Given the description of an element on the screen output the (x, y) to click on. 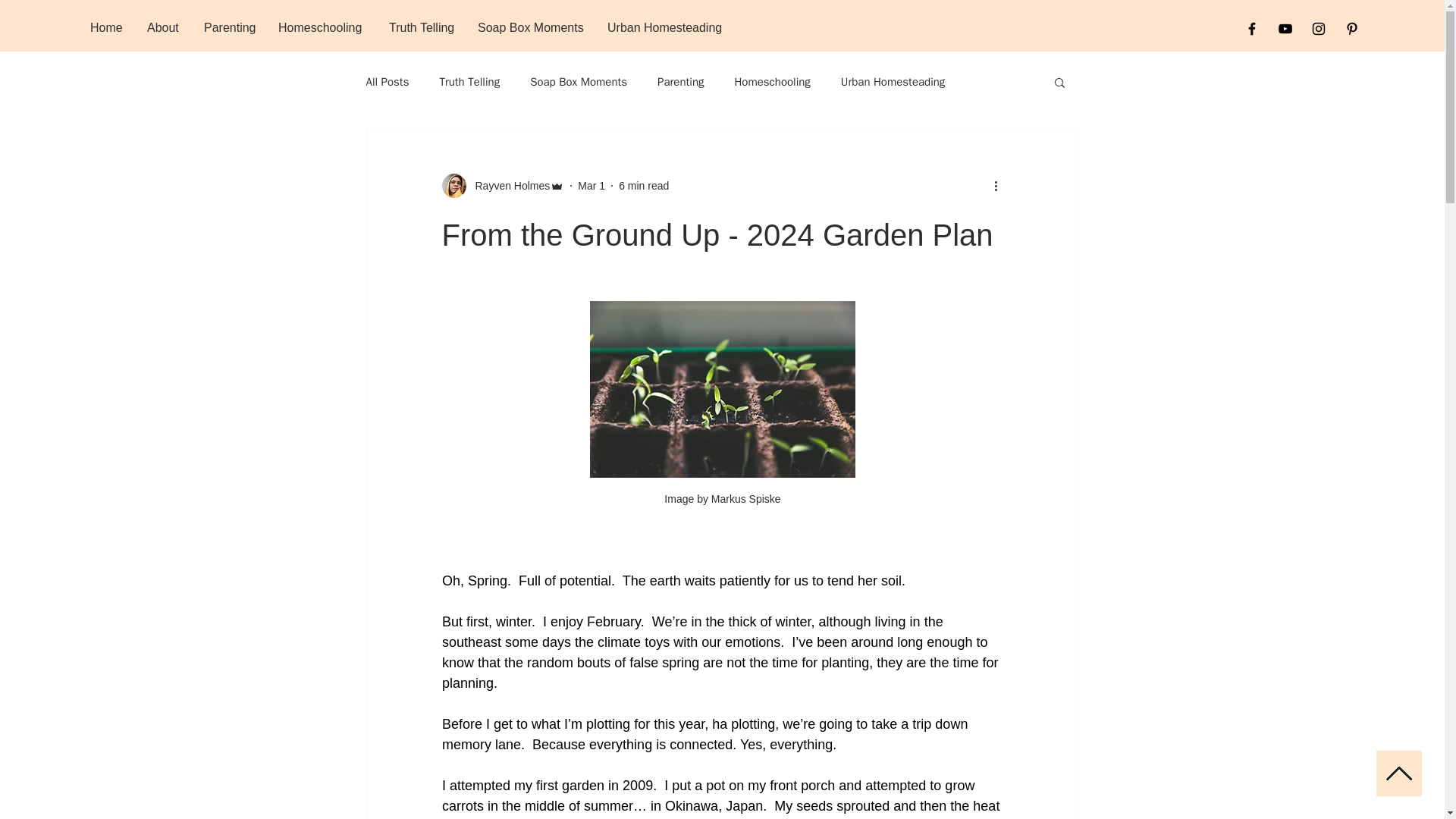
Soap Box Moments (578, 81)
Parenting (229, 27)
All Posts (387, 81)
Rayven Holmes (502, 185)
About (163, 27)
Truth Telling (469, 81)
Rayven Holmes (507, 185)
Truth Telling (421, 27)
Parenting (680, 81)
6 min read (643, 184)
Homeschooling (321, 27)
Soap Box Moments (530, 27)
Mar 1 (591, 184)
Urban Homesteading (892, 81)
Homeschooling (771, 81)
